Given the description of an element on the screen output the (x, y) to click on. 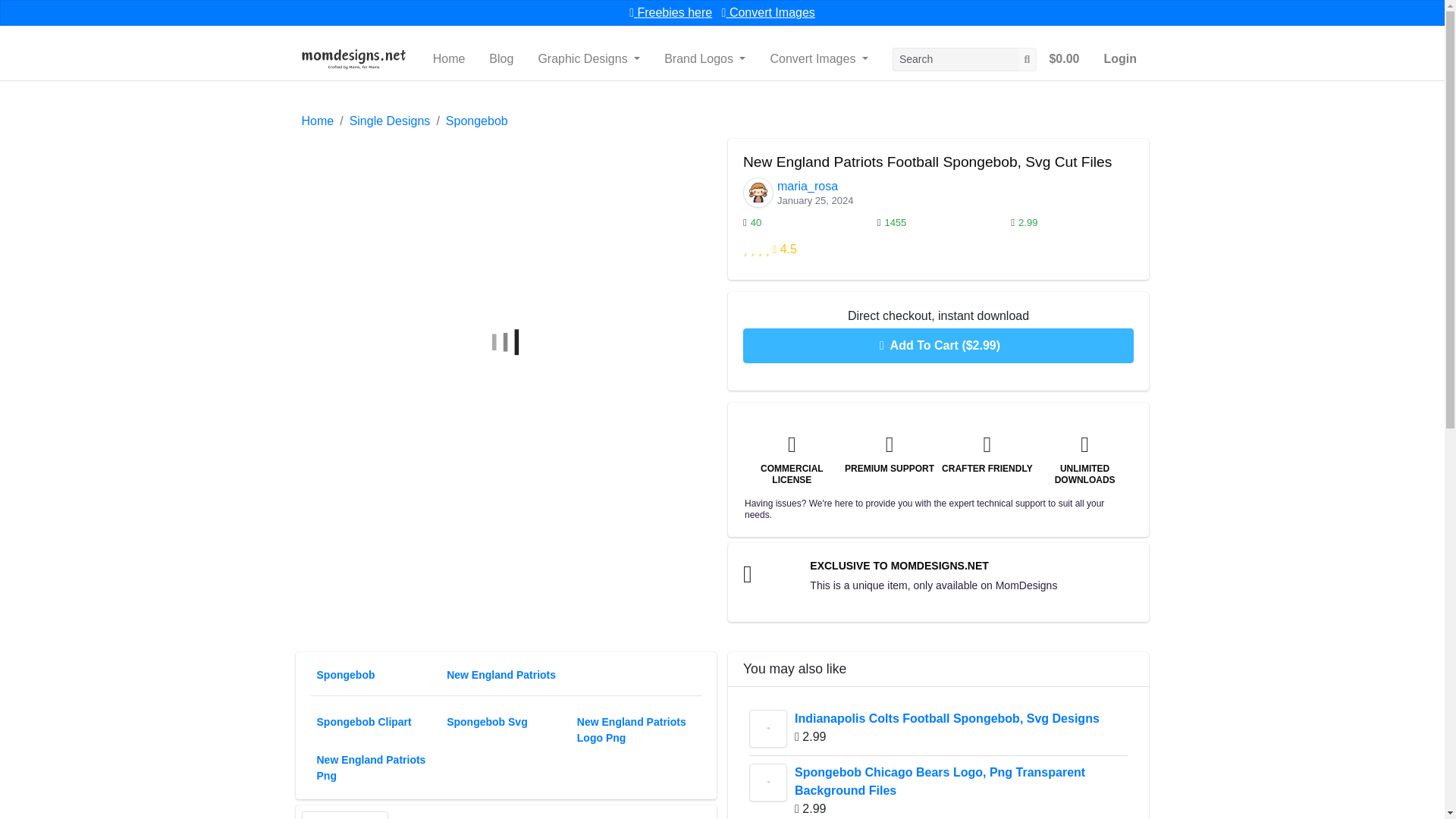
Indianapolis Colts Football Spongebob, Svg Designs (768, 728)
Freebies here (669, 11)
Convert Images (768, 11)
Graphic Designs (588, 59)
Home (448, 59)
Blog (501, 59)
